Given the description of an element on the screen output the (x, y) to click on. 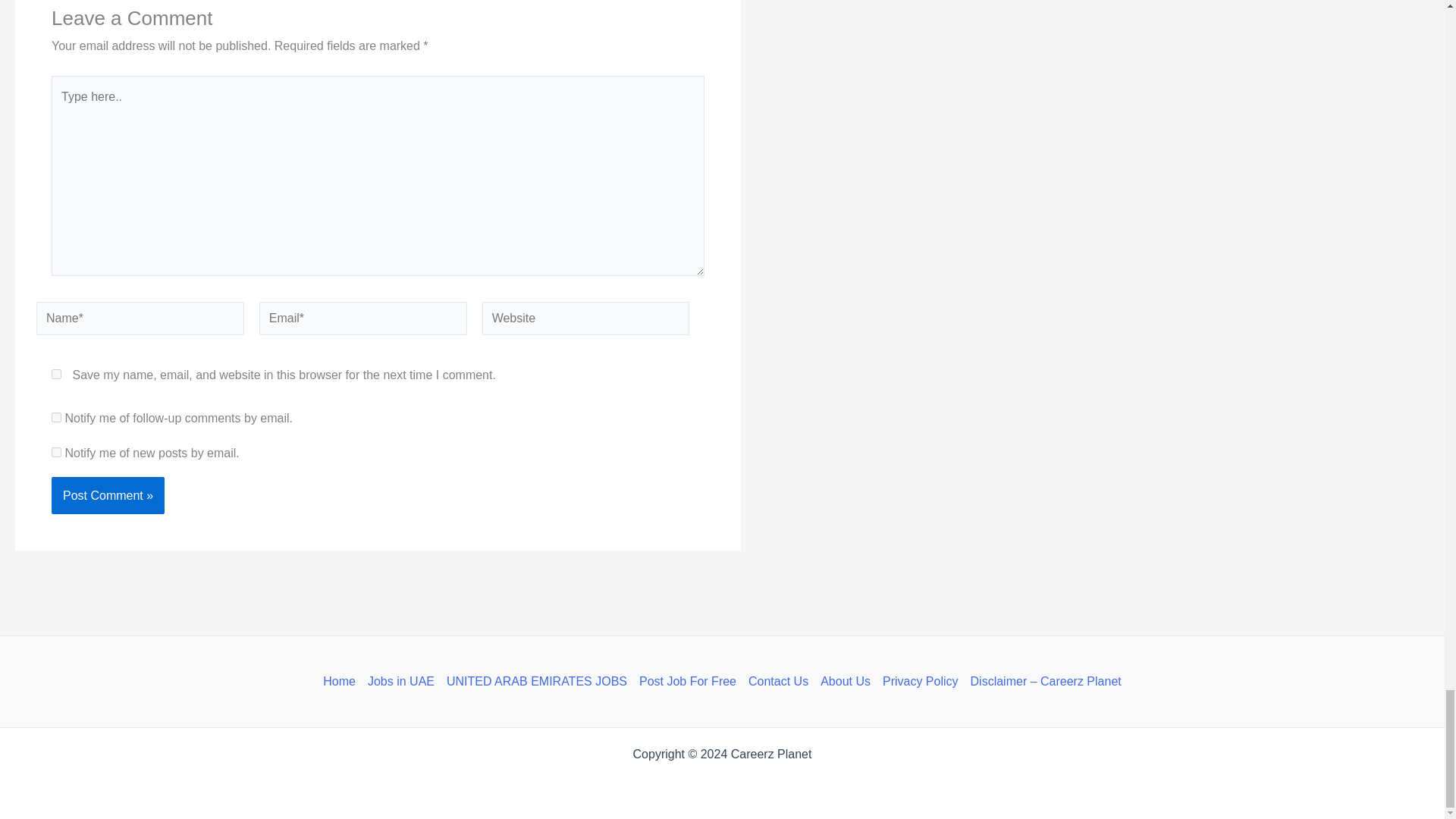
yes (55, 374)
subscribe (55, 452)
subscribe (55, 417)
